Given the description of an element on the screen output the (x, y) to click on. 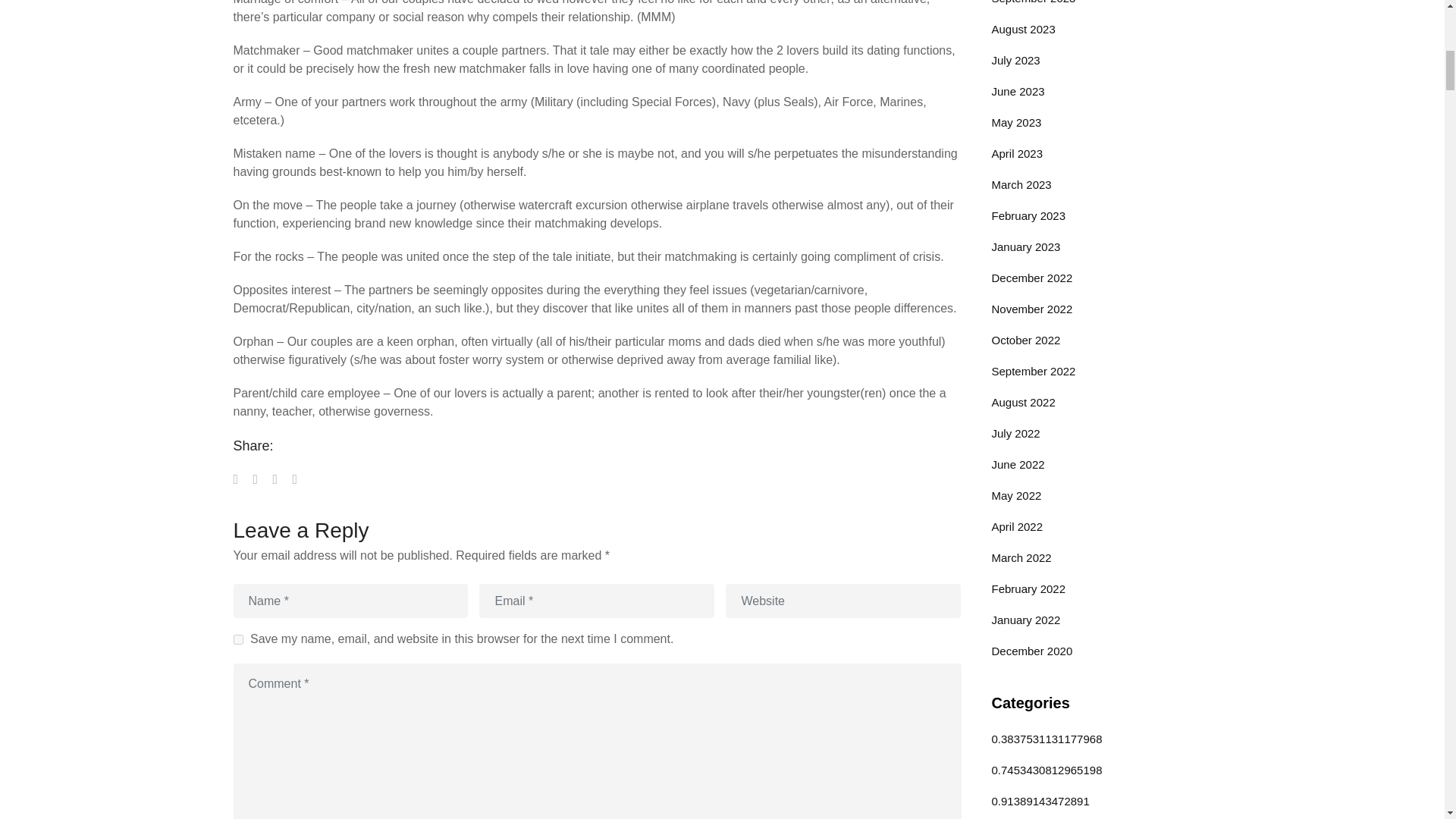
September 2023 (1033, 2)
yes (237, 639)
August 2023 (1023, 29)
